Given the description of an element on the screen output the (x, y) to click on. 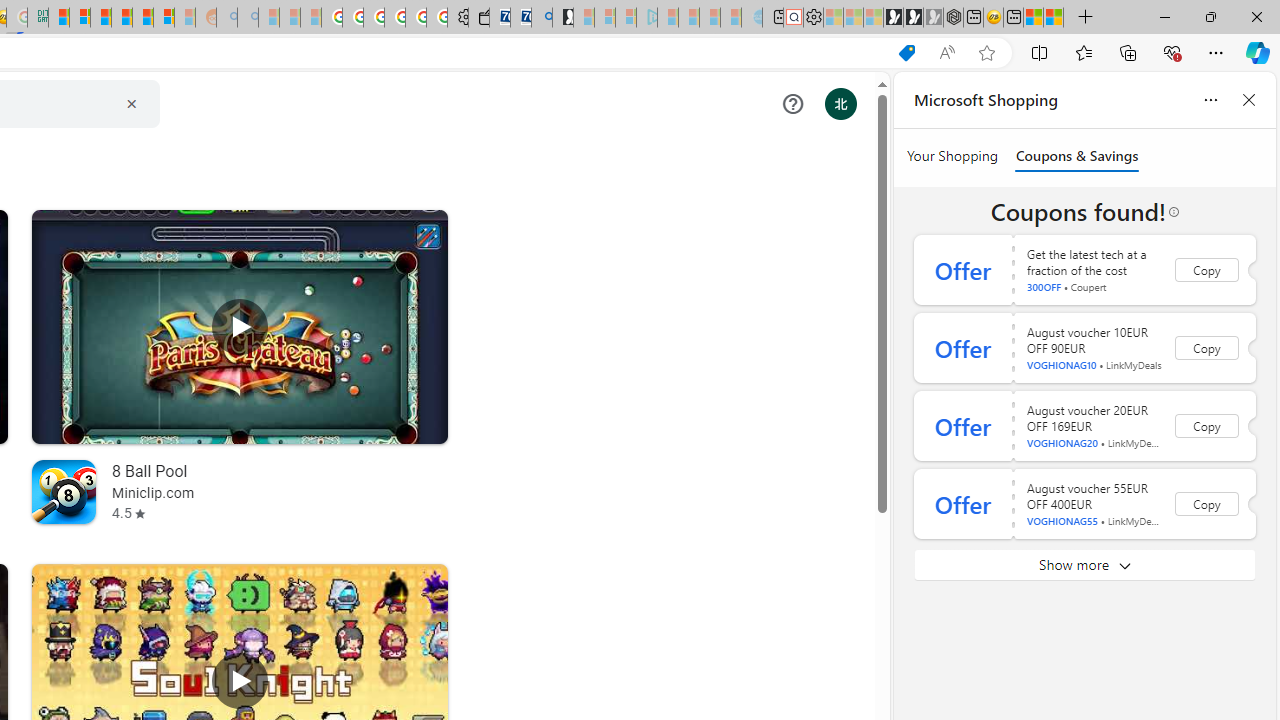
Play Soul Knight (239, 681)
Wallet (478, 17)
New tab (1012, 17)
Settings (813, 17)
Home | Sky Blue Bikes - Sky Blue Bikes - Sleeping (751, 17)
DITOGAMES AG Imprint (38, 17)
Close (1256, 16)
Copilot (Ctrl+Shift+.) (1258, 52)
